Given the description of an element on the screen output the (x, y) to click on. 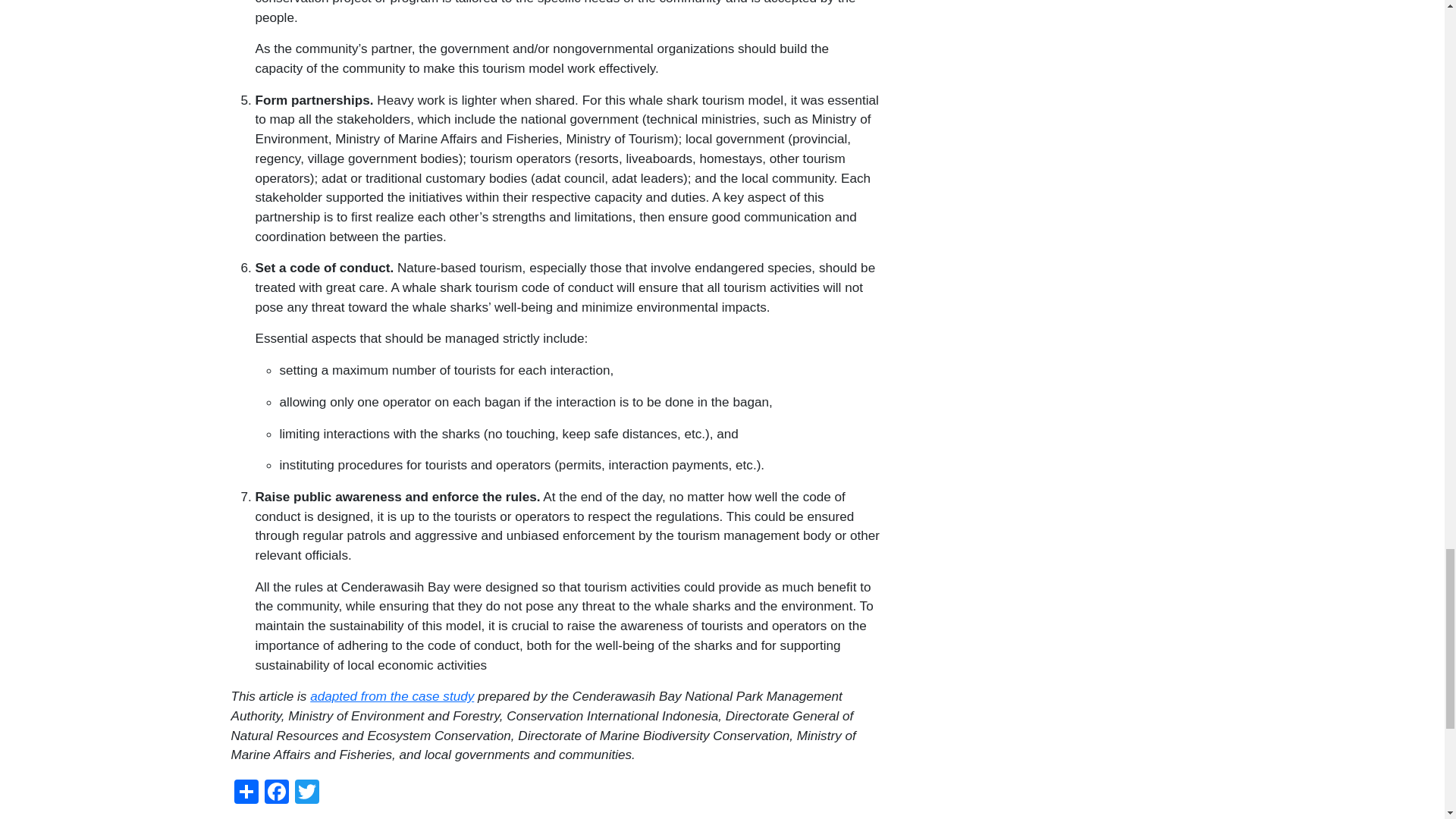
Twitter (306, 790)
adapted from the case study (392, 695)
Facebook (275, 790)
